Given the description of an element on the screen output the (x, y) to click on. 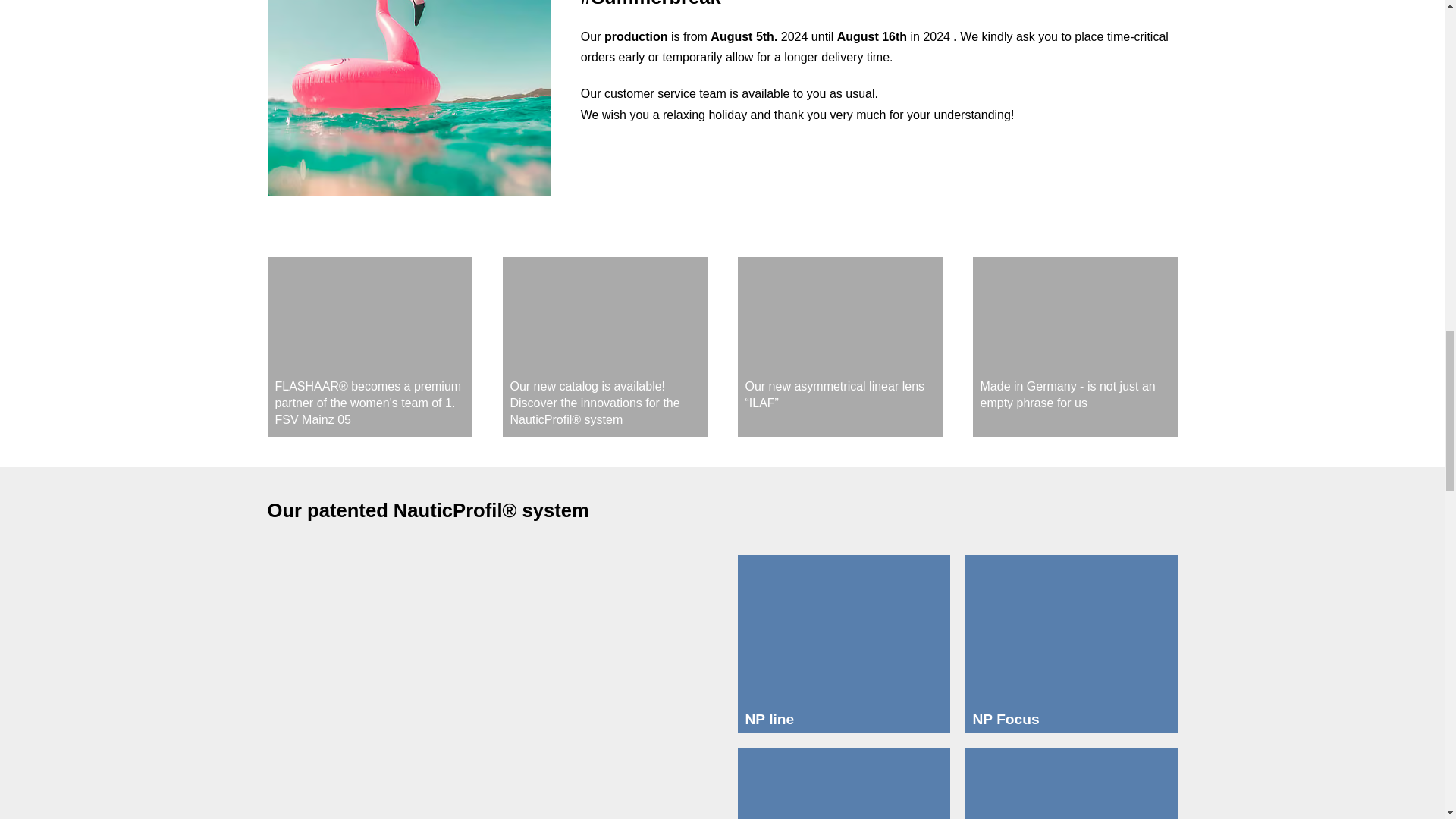
Home 7 (408, 97)
NP line (842, 630)
Home 11 (1074, 314)
Home 10 (839, 314)
NP Focus (1069, 630)
Home 12 (486, 690)
NP Picospot (842, 783)
Home 9 (604, 314)
Home 8 (368, 314)
